Given the description of an element on the screen output the (x, y) to click on. 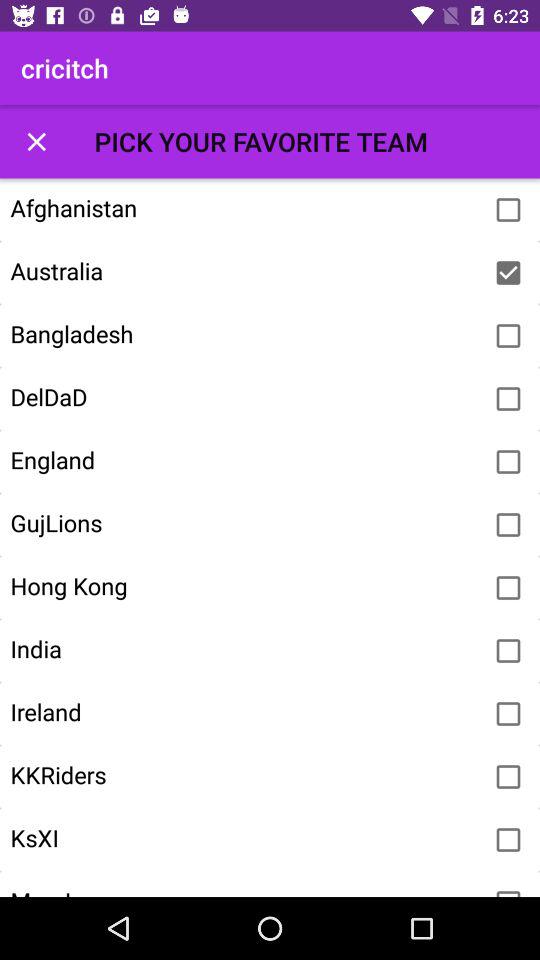
choose the country (508, 714)
